Given the description of an element on the screen output the (x, y) to click on. 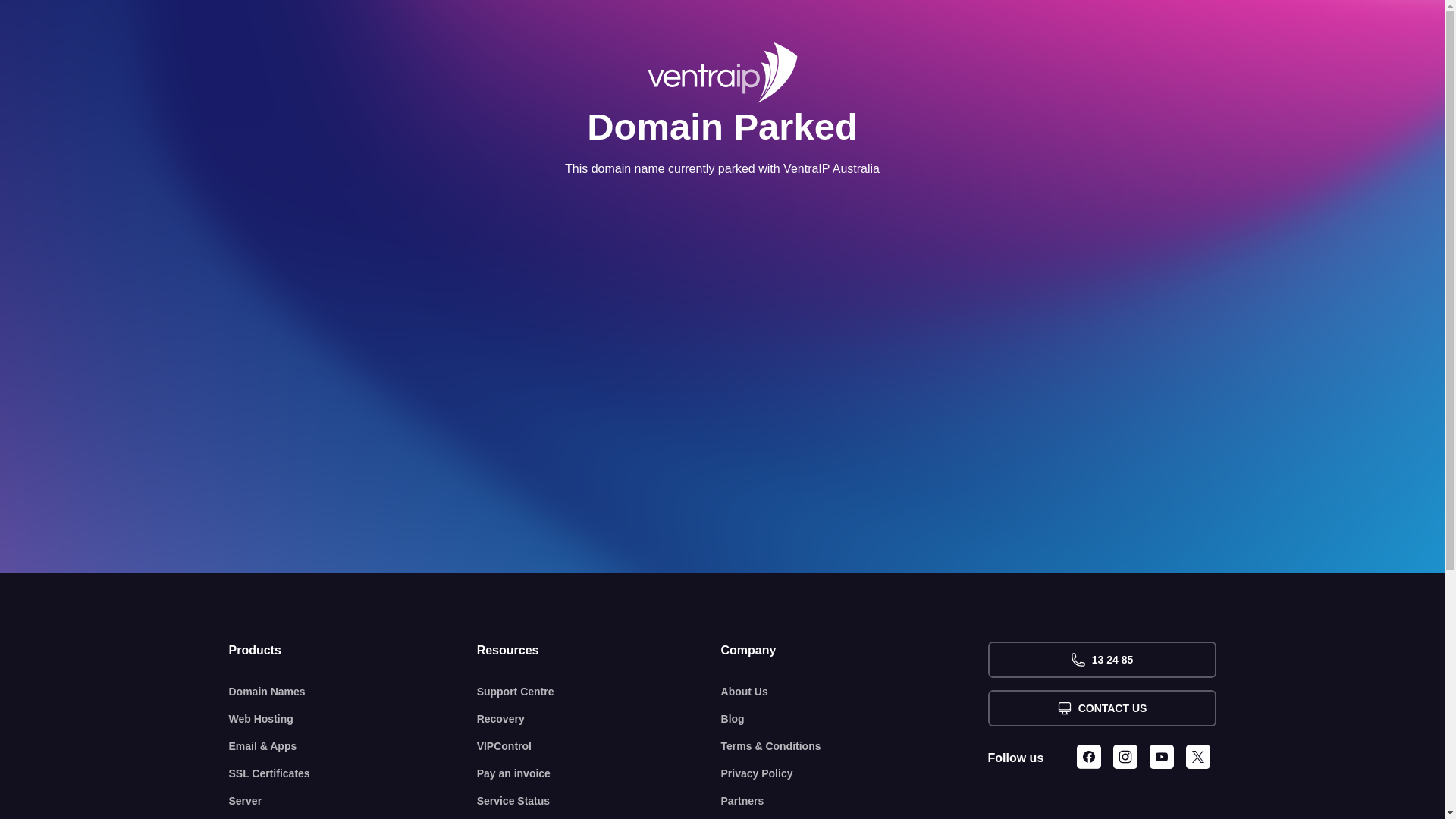
13 24 85 Element type: text (1101, 659)
Service Status Element type: text (598, 800)
Privacy Policy Element type: text (854, 773)
Pay an invoice Element type: text (598, 773)
Email & Apps Element type: text (352, 745)
Blog Element type: text (854, 718)
Partners Element type: text (854, 800)
Recovery Element type: text (598, 718)
Terms & Conditions Element type: text (854, 745)
About Us Element type: text (854, 691)
Server Element type: text (352, 800)
SSL Certificates Element type: text (352, 773)
Domain Names Element type: text (352, 691)
Web Hosting Element type: text (352, 718)
VIPControl Element type: text (598, 745)
Support Centre Element type: text (598, 691)
CONTACT US Element type: text (1101, 708)
